Given the description of an element on the screen output the (x, y) to click on. 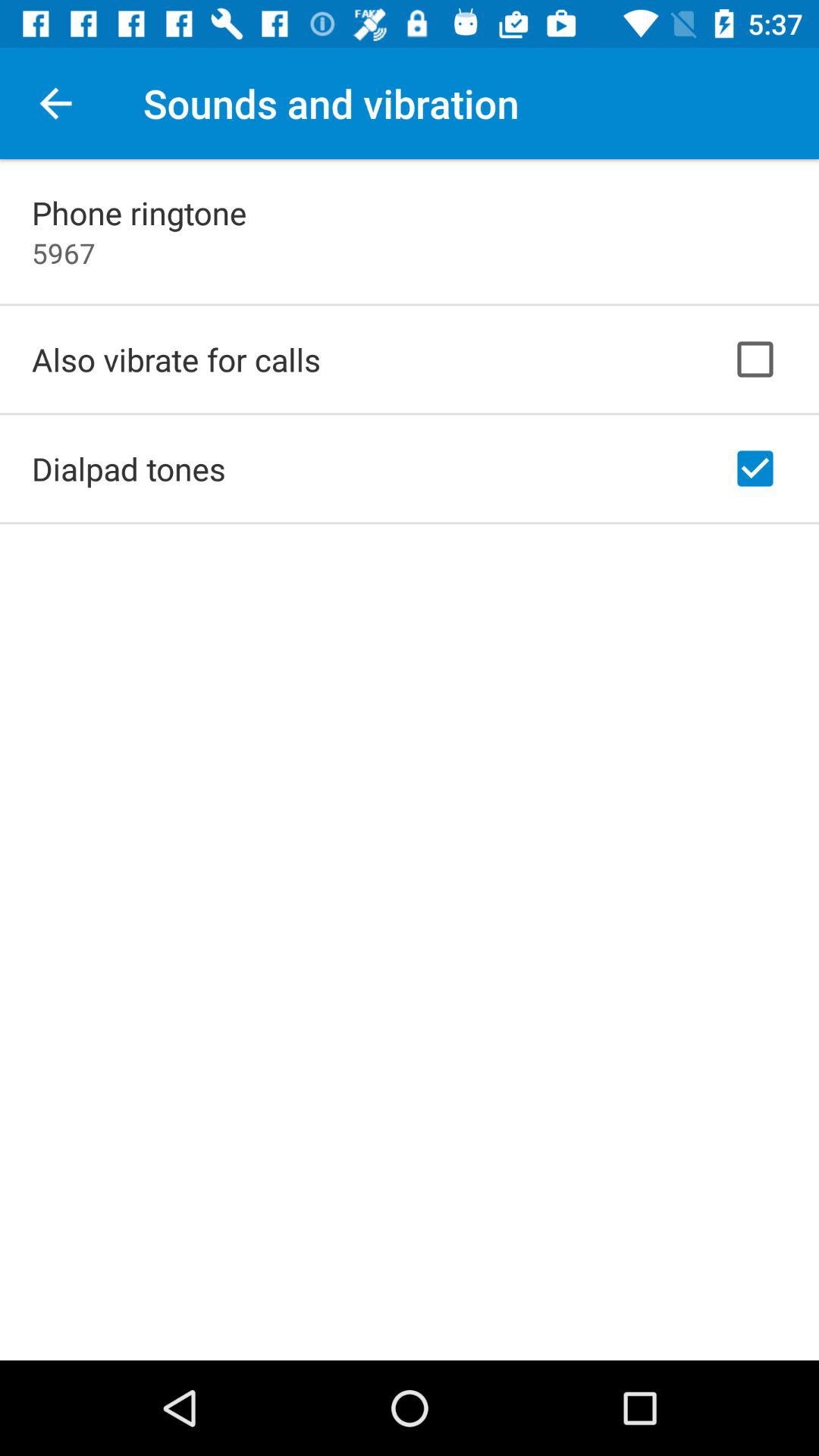
click phone ringtone item (138, 212)
